Given the description of an element on the screen output the (x, y) to click on. 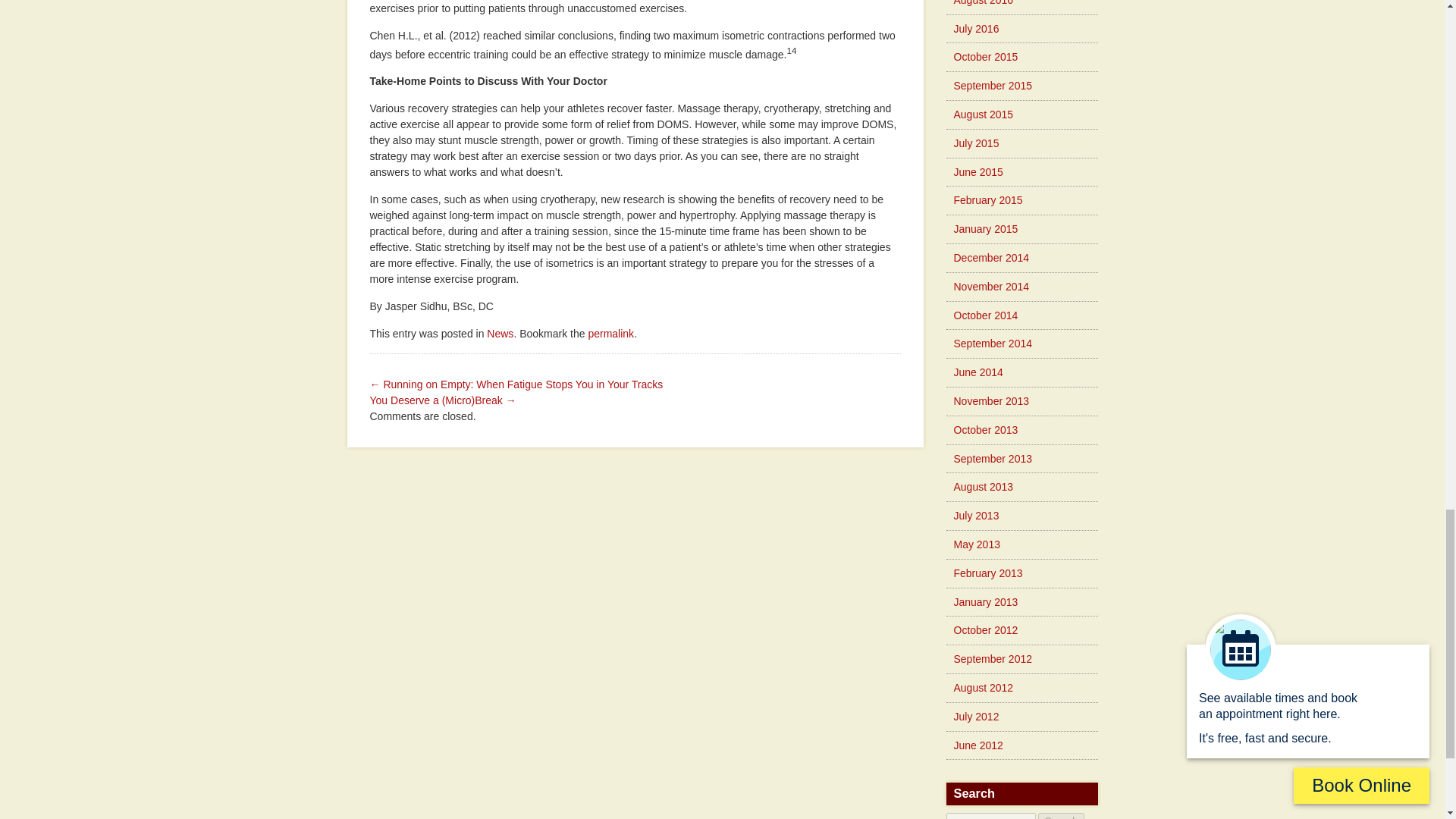
Search (1060, 816)
News (499, 333)
permalink (610, 333)
